Given the description of an element on the screen output the (x, y) to click on. 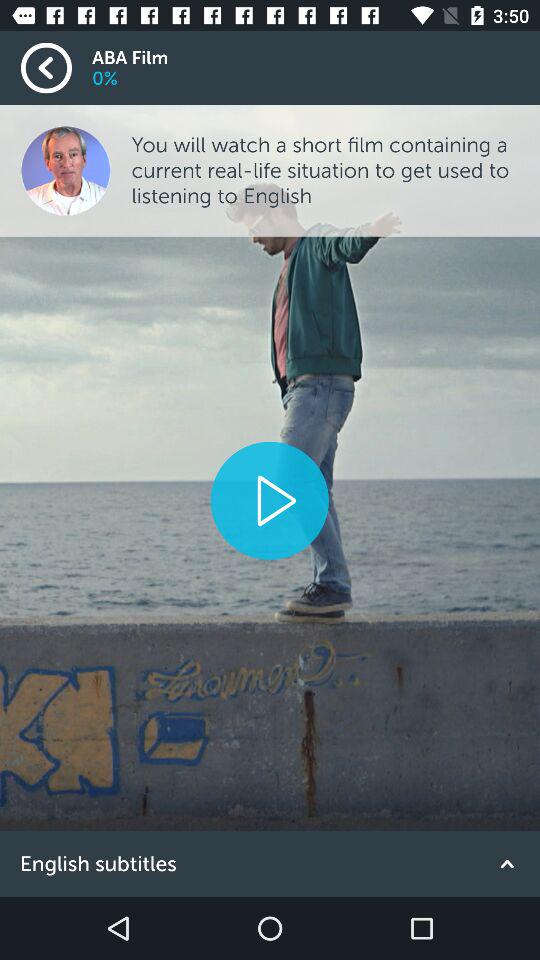
go back (56, 67)
